Given the description of an element on the screen output the (x, y) to click on. 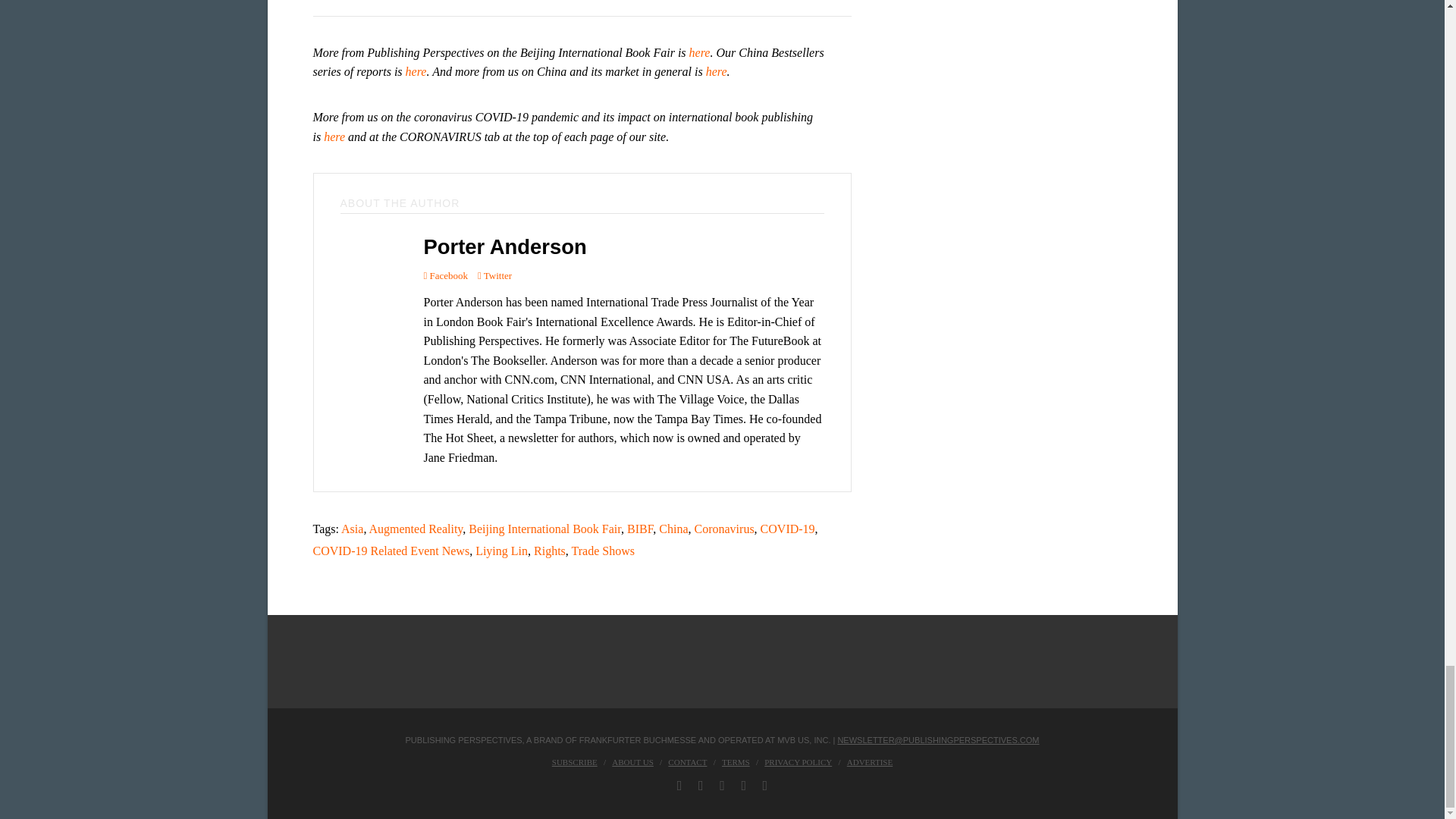
Terms and Conditions (735, 761)
Subscribe to Publishing Perspectives (573, 761)
here (699, 51)
here (416, 71)
here (716, 71)
Visit the Twitter Profile for Porter Anderson (494, 275)
Visit the Facebook Profile for Porter Anderson (445, 275)
